Given the description of an element on the screen output the (x, y) to click on. 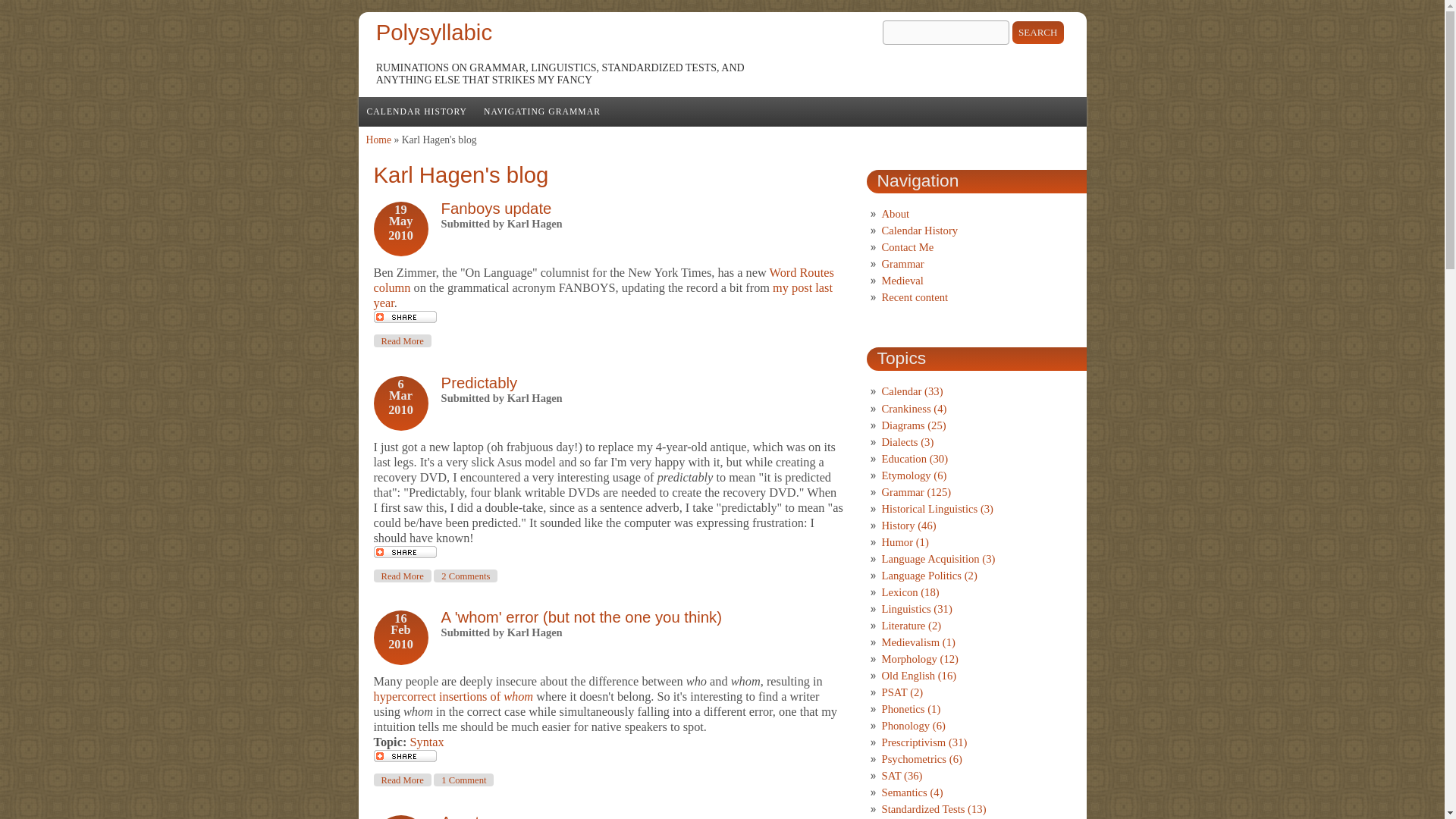
Search (1036, 32)
CALENDAR HISTORY (417, 111)
1 Comment (463, 779)
Syntax (401, 340)
Avast (426, 741)
Home (401, 575)
Predictably (460, 816)
Predictably (377, 139)
Polysyllabic (479, 382)
NAVIGATING GRAMMAR (479, 382)
hypercorrect insertions of whom (433, 32)
Jump to the first comment of this posting. (542, 111)
